Given the description of an element on the screen output the (x, y) to click on. 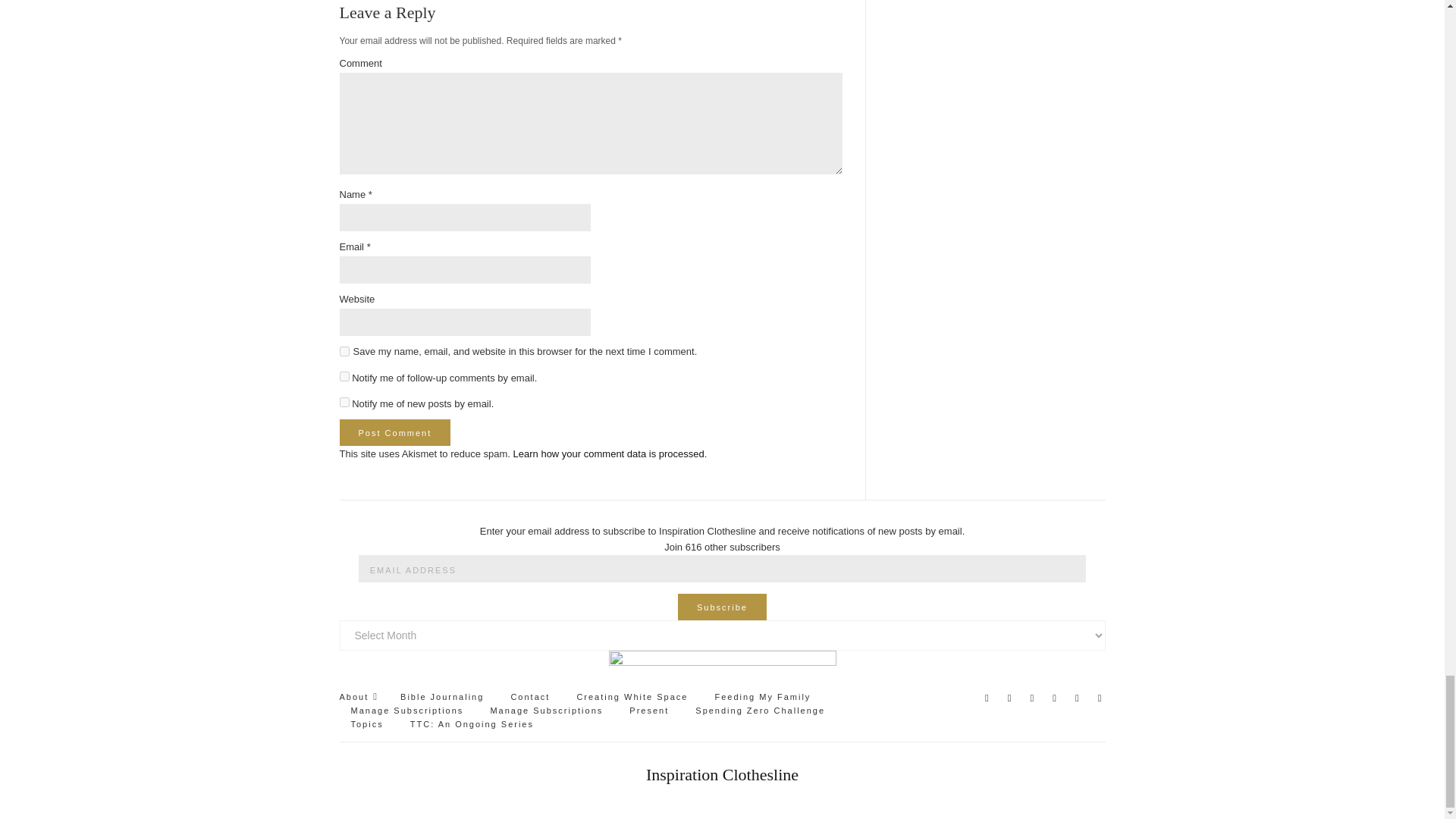
subscribe (344, 376)
Post Comment (395, 432)
yes (344, 351)
subscribe (344, 402)
